Given the description of an element on the screen output the (x, y) to click on. 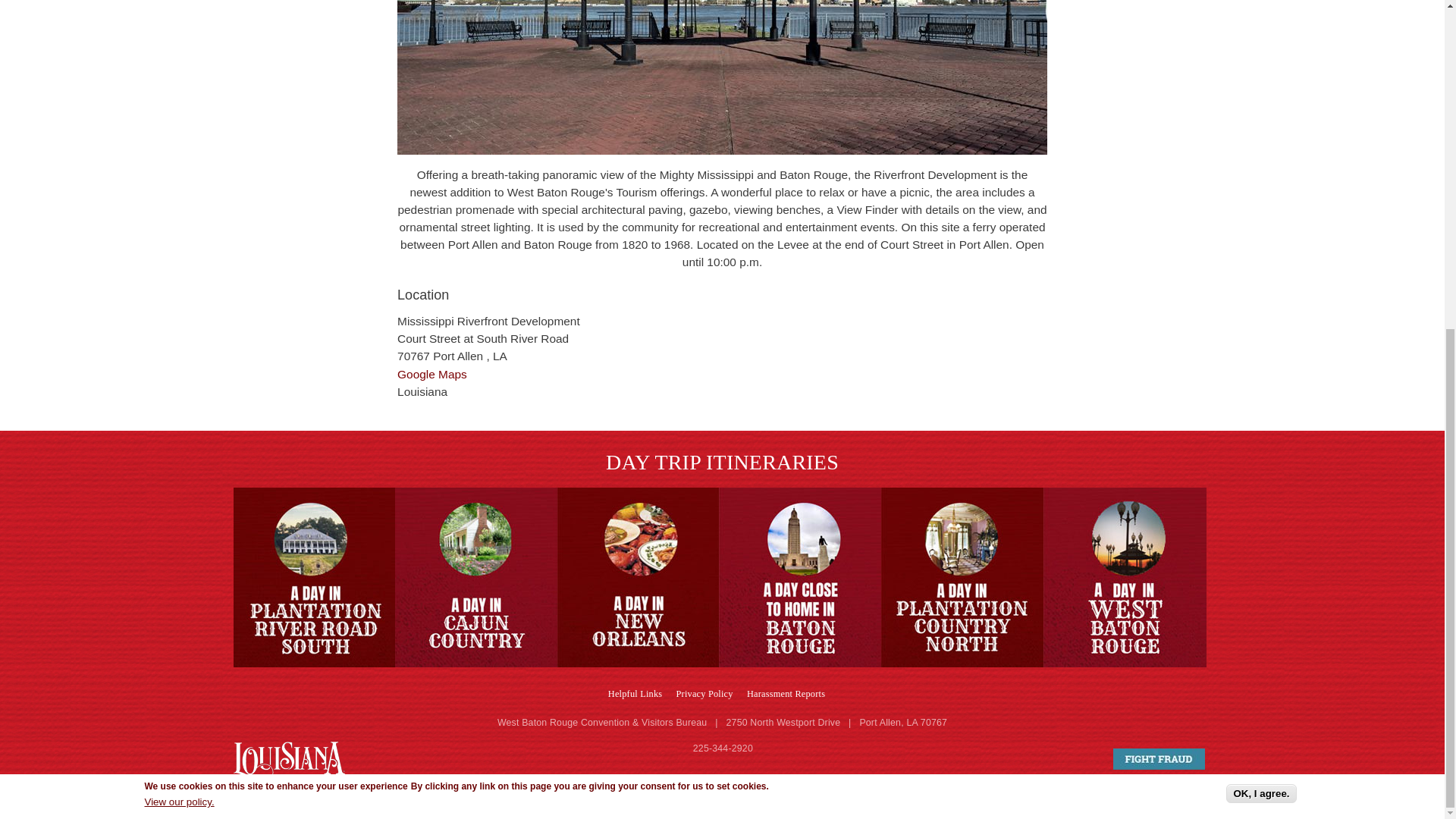
West Baton Rouge Itinerary (961, 577)
West Baton Rouge Itinerary (800, 577)
West Baton Rouge Itinerary (475, 577)
West Baton Rouge Itinerary (638, 577)
West Baton Rouge Itinerary (1125, 577)
West Baton Rouge Itineraries (314, 577)
